Given the description of an element on the screen output the (x, y) to click on. 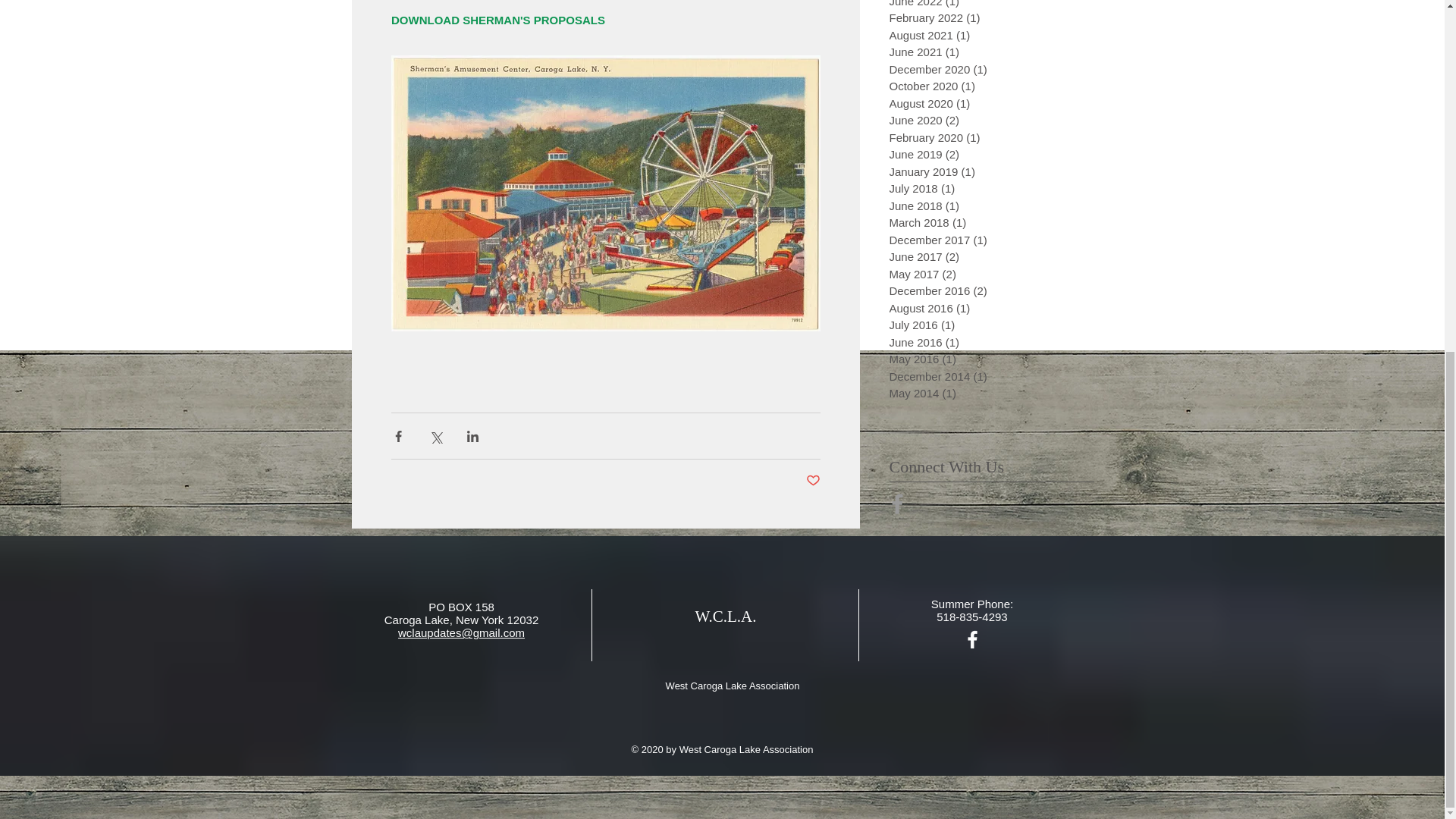
Post not marked as liked (812, 480)
DOWNLOAD SHERMAN'S PROPOSALS (498, 19)
